Given the description of an element on the screen output the (x, y) to click on. 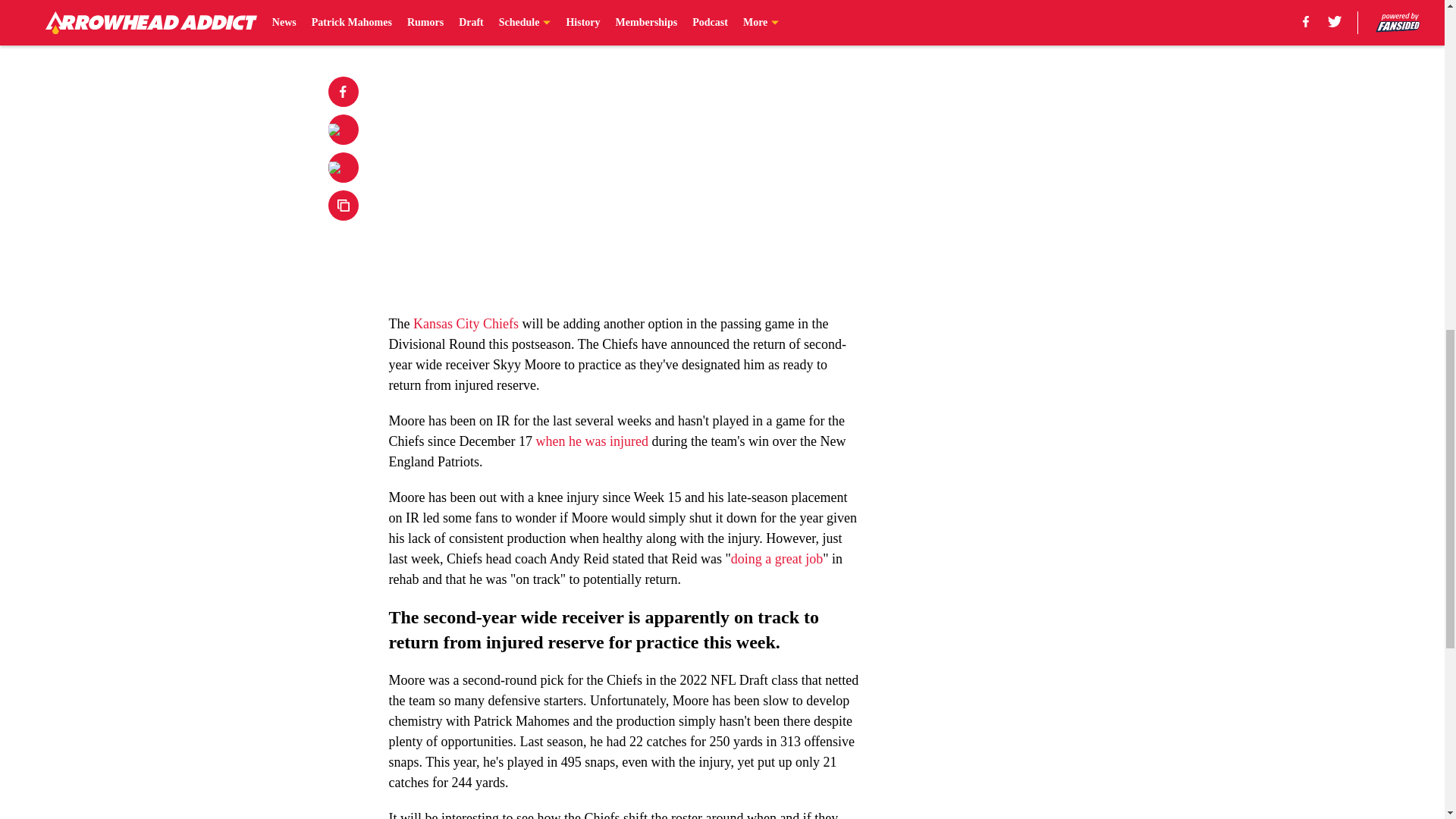
Kansas City Chiefs (467, 323)
doing a great job (776, 558)
when he was injured (591, 441)
